Given the description of an element on the screen output the (x, y) to click on. 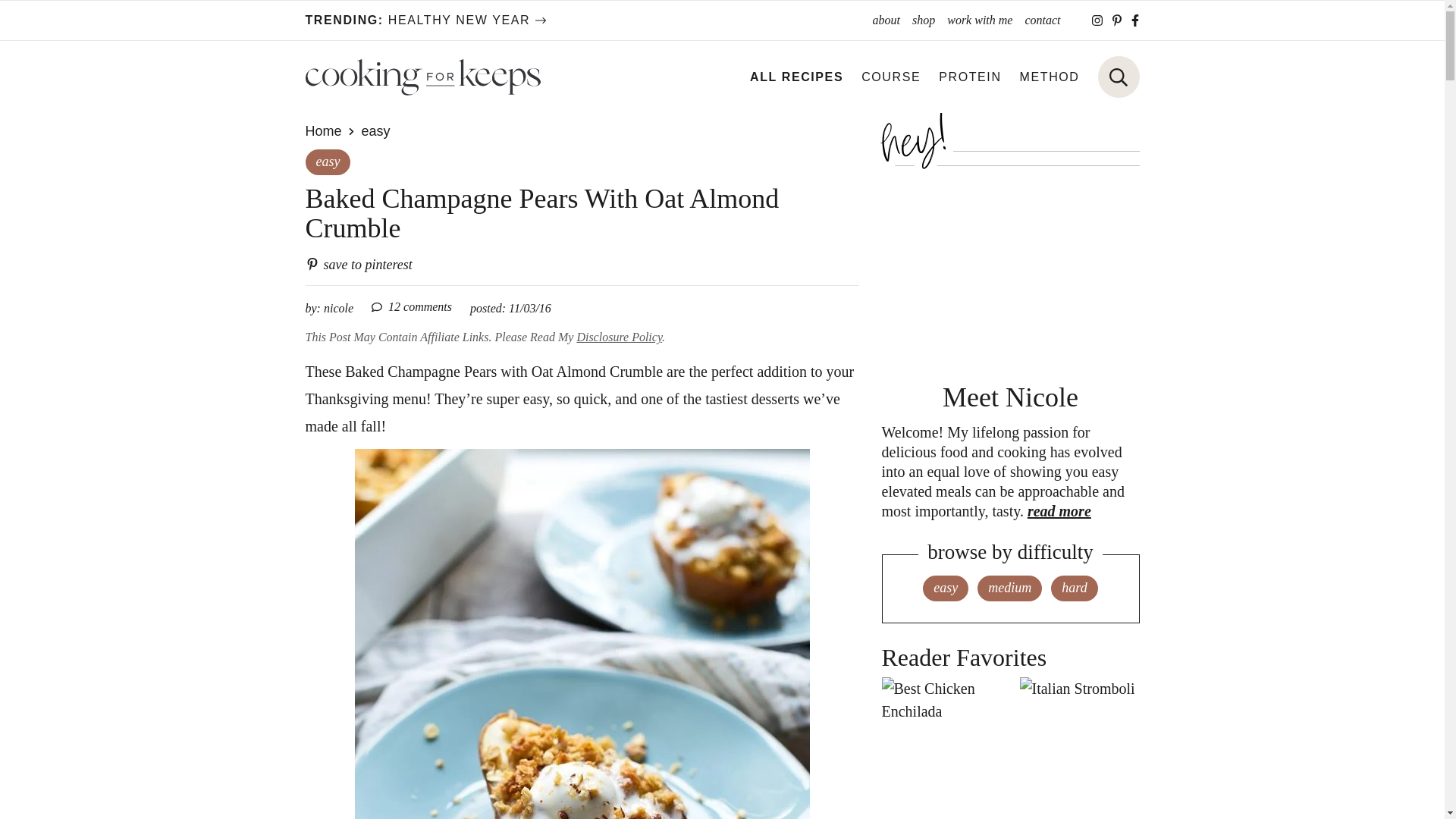
METHOD (1050, 76)
PROTEIN (970, 76)
COURSE (890, 76)
contact (1041, 20)
Save to Pinterest (358, 264)
ALL RECIPES (796, 76)
shop (922, 20)
work with me (978, 20)
Cooking for Keeps (422, 76)
